Given the description of an element on the screen output the (x, y) to click on. 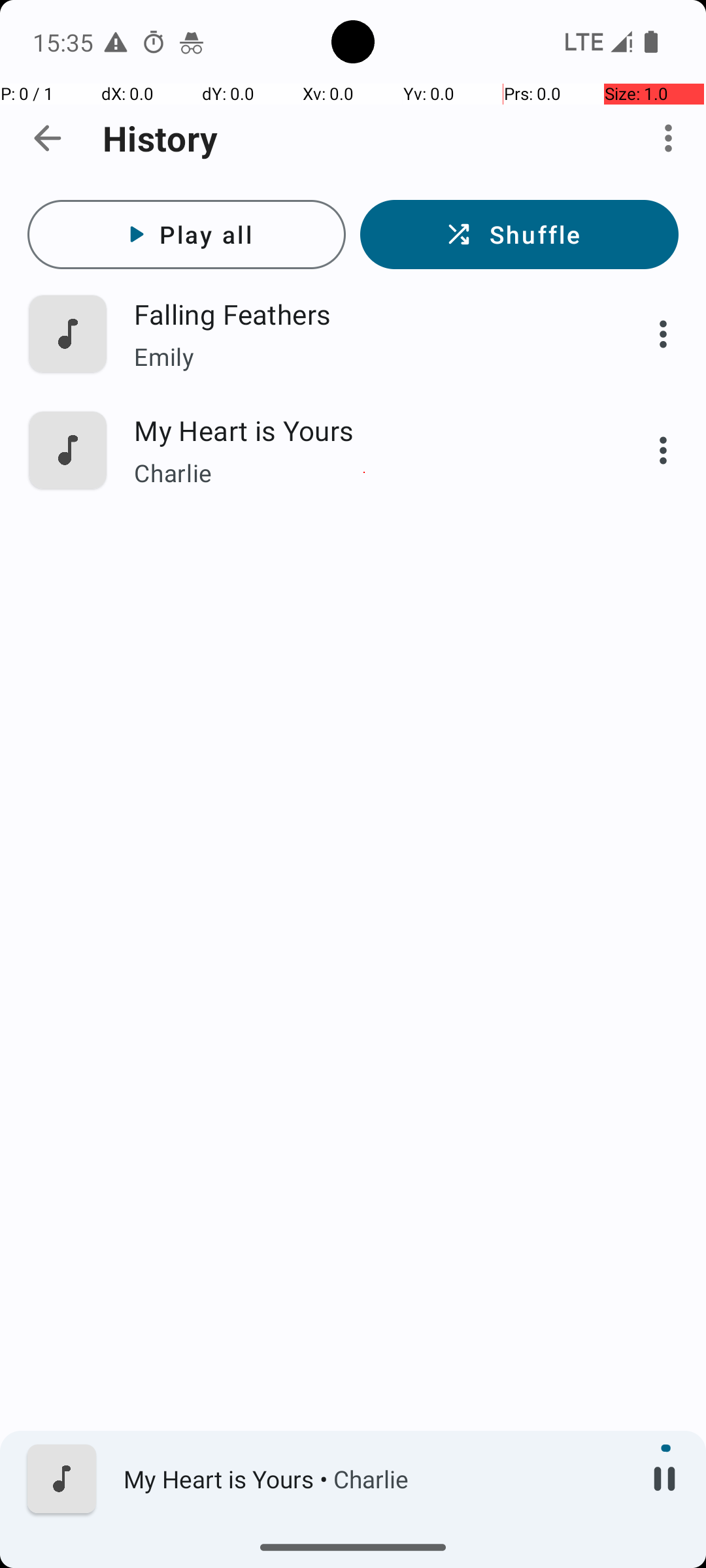
My Heart is Yours • Charlie Element type: android.widget.TextView (372, 1478)
Play all Element type: android.widget.Button (186, 234)
Falling Feathers Element type: android.widget.TextView (363, 313)
Emily Element type: android.widget.TextView (363, 356)
My Heart is Yours Element type: android.widget.TextView (363, 429)
Charlie Element type: android.widget.TextView (363, 472)
